Given the description of an element on the screen output the (x, y) to click on. 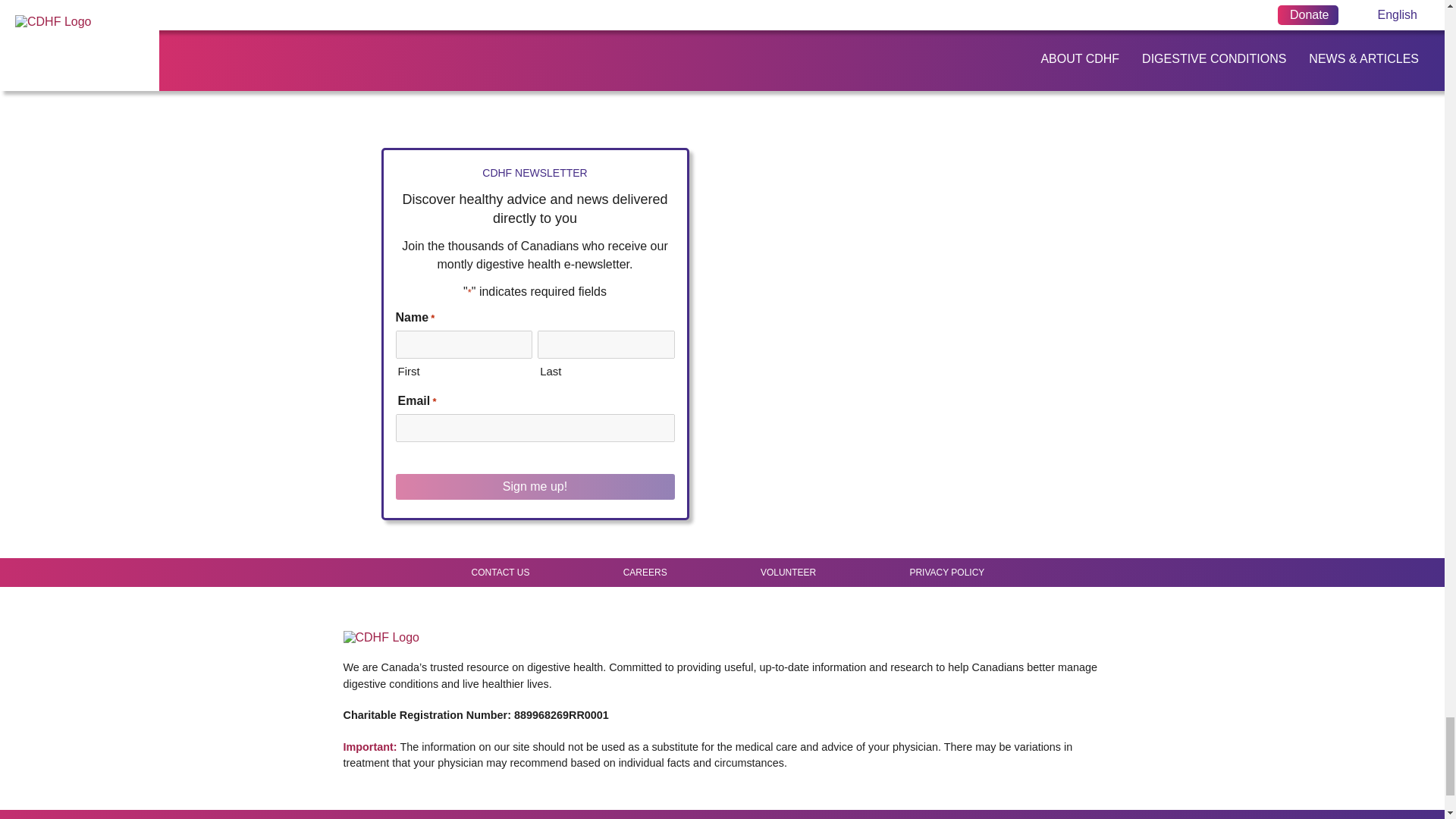
Instagram (1024, 619)
YouTube (1010, 619)
Facebook (968, 619)
Sign me up! (535, 486)
Twitter (995, 619)
